Given the description of an element on the screen output the (x, y) to click on. 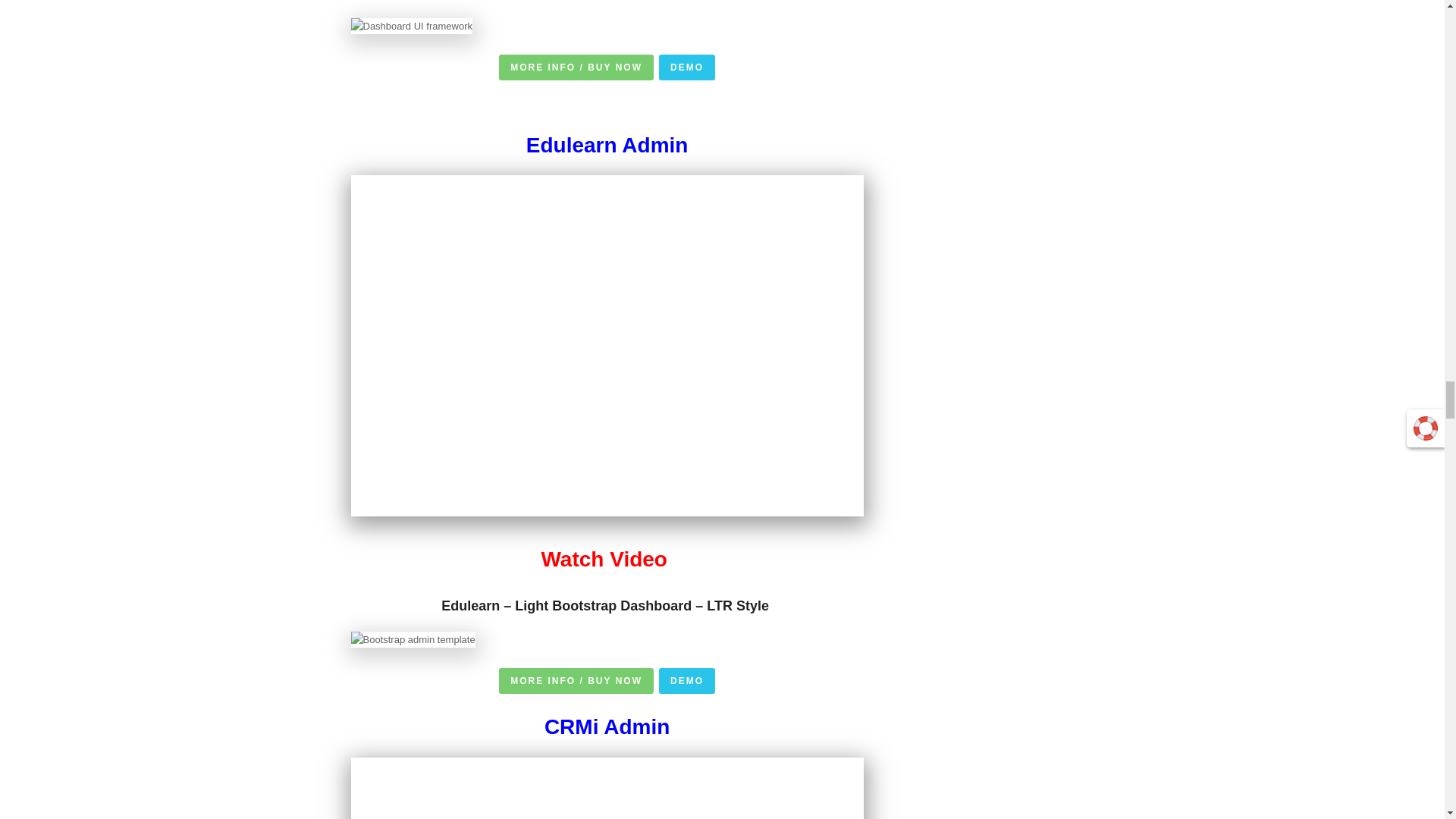
YouTube video player (606, 788)
